Given the description of an element on the screen output the (x, y) to click on. 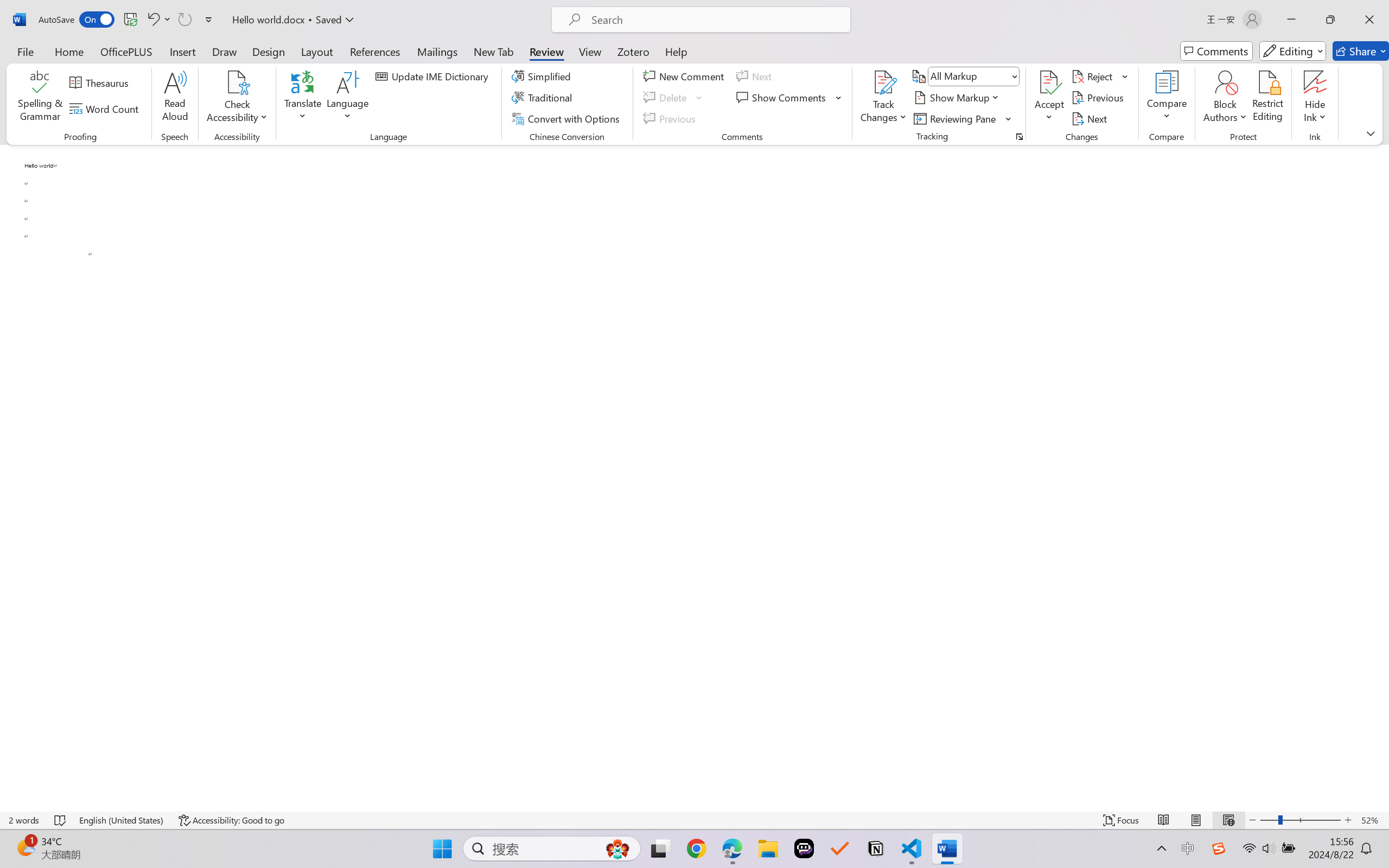
Accept and Move to Next (1049, 81)
Next (1090, 118)
Language (347, 97)
Class: NetUIScrollBar (1382, 477)
Editing (1292, 50)
Mailings (437, 51)
Display for Review (973, 75)
OfficePLUS (126, 51)
AutoSave (76, 19)
Restore Down (1330, 19)
Simplified (542, 75)
Class: Image (1218, 847)
Previous (1099, 97)
